Given the description of an element on the screen output the (x, y) to click on. 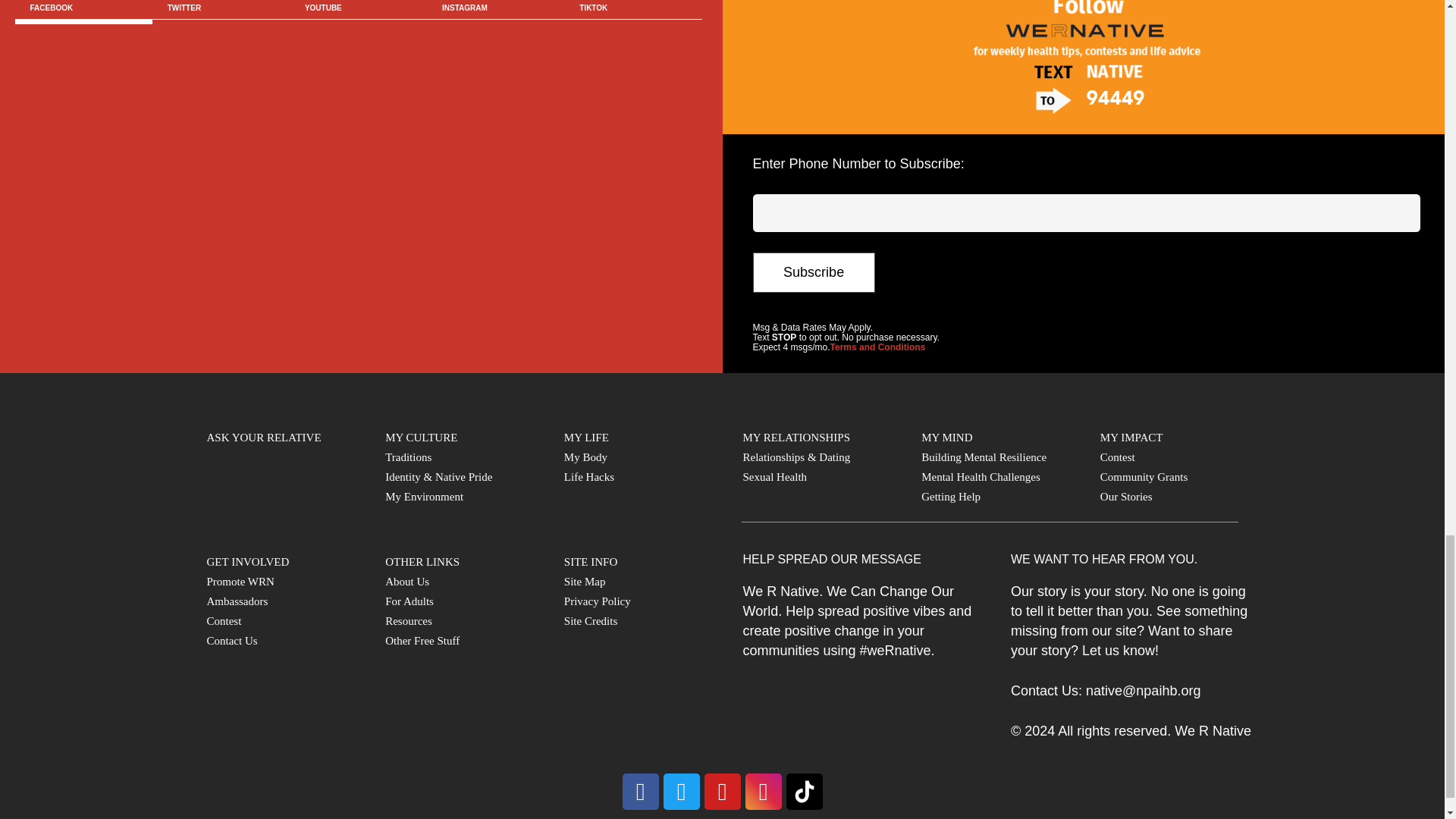
facebook (639, 791)
fb:page Facebook Social Plugin (358, 197)
Subscribe (813, 271)
twitter (680, 791)
